Given the description of an element on the screen output the (x, y) to click on. 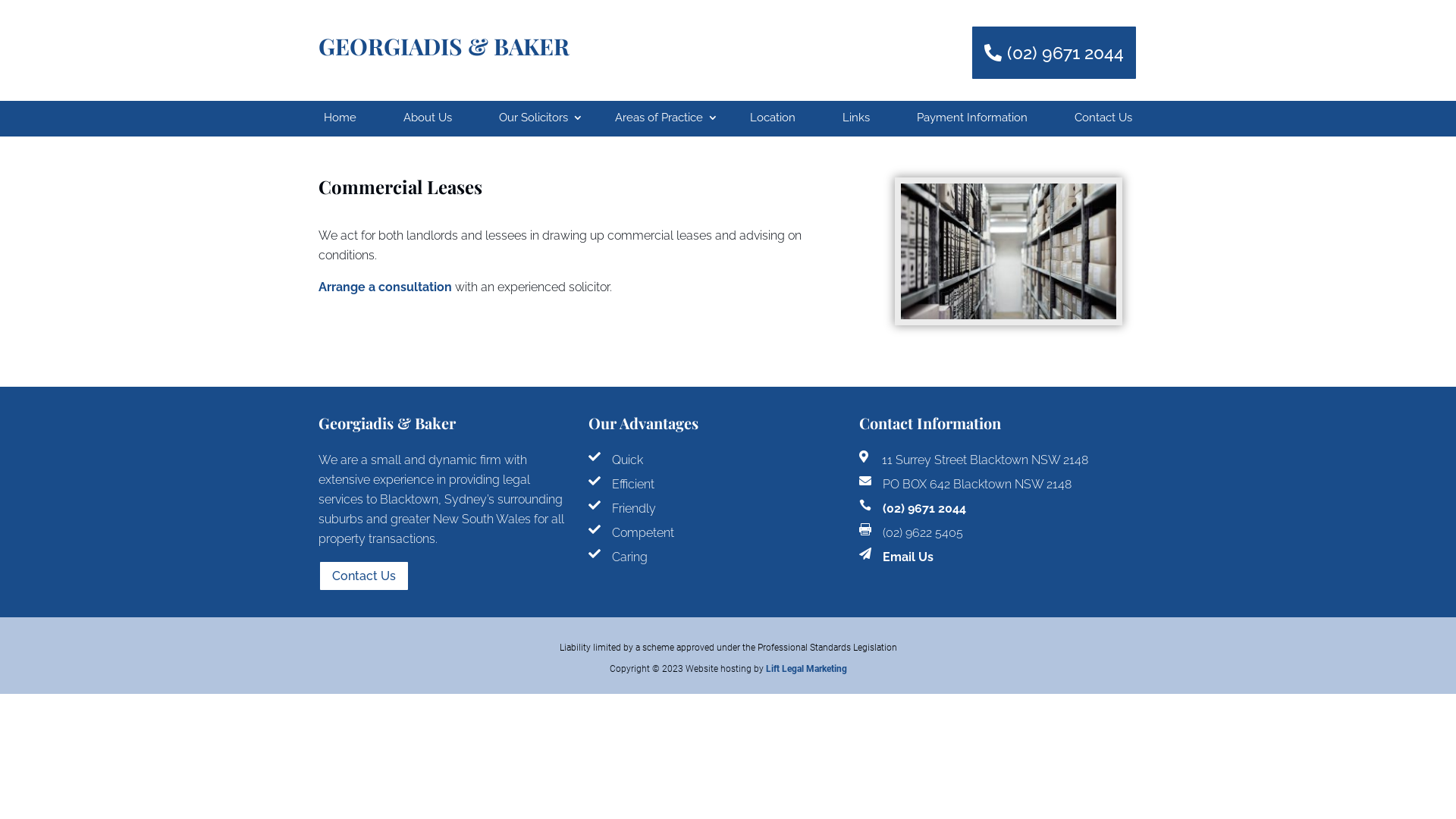
Areas of Practice Element type: text (658, 118)
Lift Legal Marketing Element type: text (806, 668)
Contact Us Element type: text (1103, 118)
Links Element type: text (855, 118)
Arrange a consultation Element type: text (384, 286)
(02) 9671 2044 Element type: text (924, 507)
(02) 9671 2044 Element type: text (1053, 52)
Home Element type: text (339, 118)
Location Element type: text (772, 118)
Contact Us Element type: text (363, 575)
Email Us Element type: text (907, 556)
Our Solicitors Element type: text (533, 118)
About Us Element type: text (427, 118)
Payment Information Element type: text (971, 118)
blacktown-lease-lawyers-300x189 Element type: hover (1008, 251)
